Given the description of an element on the screen output the (x, y) to click on. 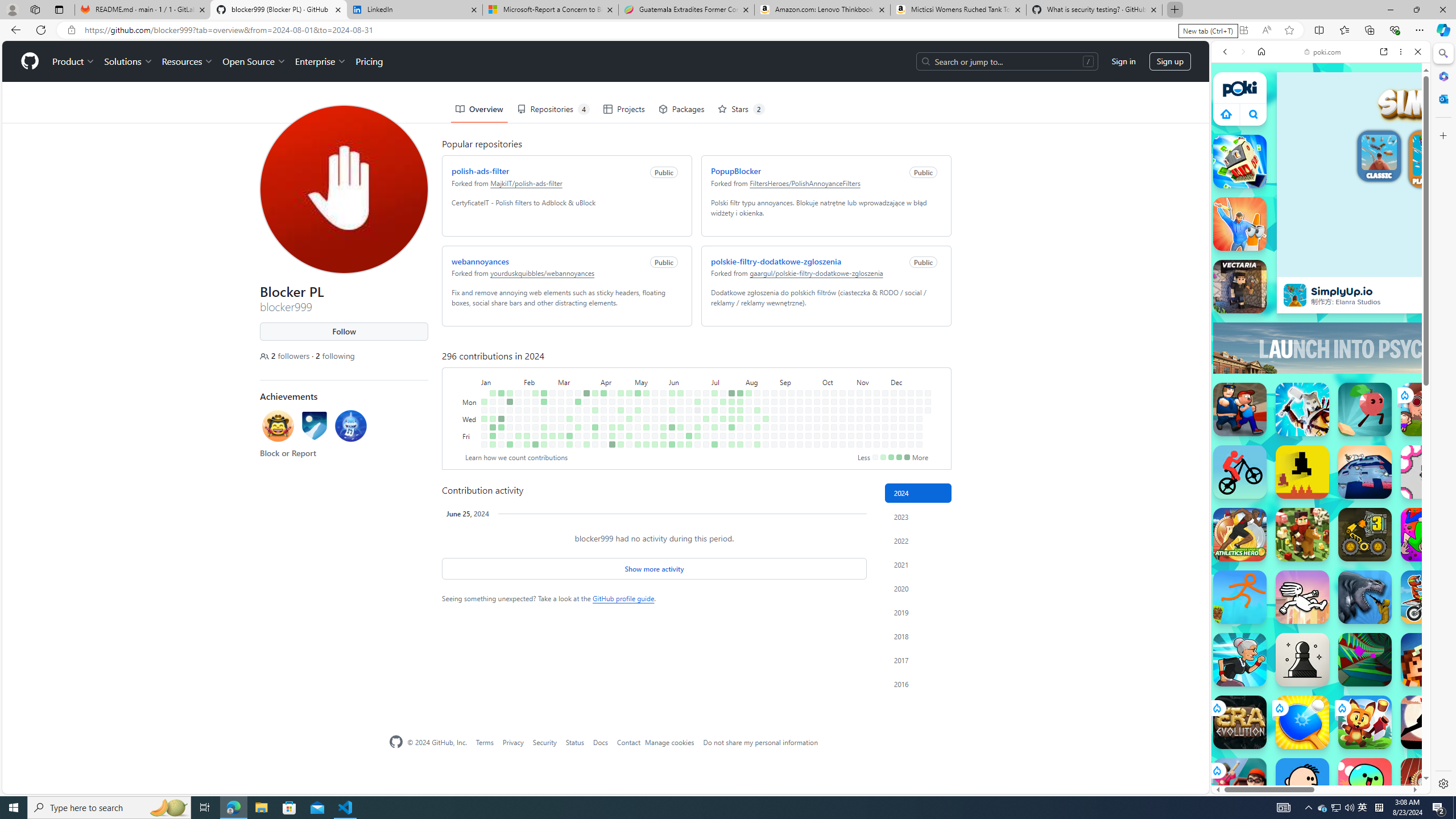
Tunnel Rush (1364, 659)
No contributions on January 9th. (492, 410)
3 contributions on January 10th. (492, 418)
No contributions on October 8th. (825, 410)
No contributions on August 8th. (748, 427)
Resources (187, 60)
Achievements (288, 395)
Classic Chess (1302, 659)
Saturday (471, 444)
Learn how we count contributions (516, 456)
No contributions on October 30th. (850, 418)
2 contributions on June 28th. (697, 435)
No contributions on July 4th. (706, 427)
2 contributions on July 22nd. (731, 401)
